Given the description of an element on the screen output the (x, y) to click on. 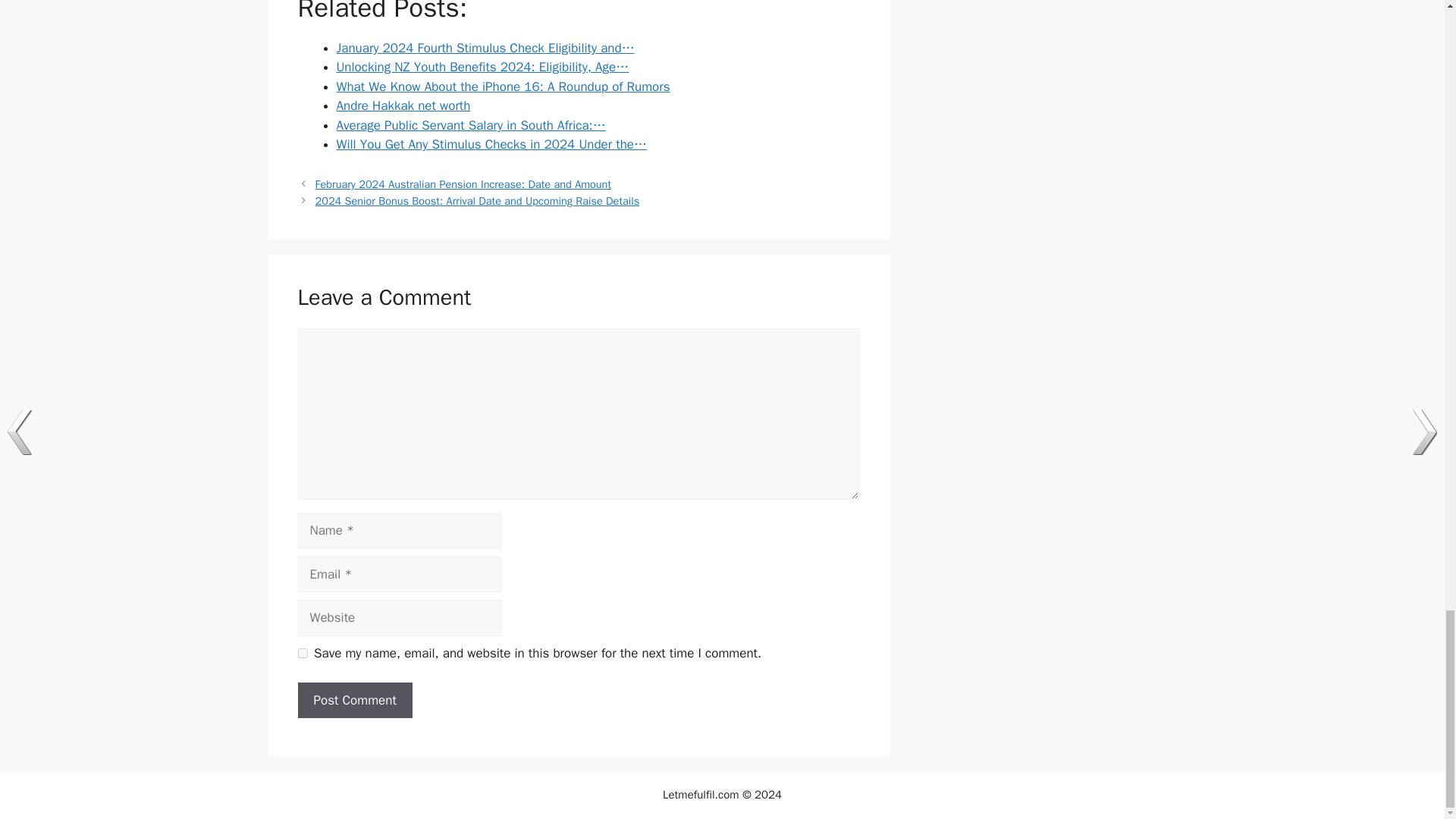
What We Know About the iPhone 16: A Roundup of Rumors (502, 86)
yes (302, 653)
Post Comment (354, 700)
Post Comment (354, 700)
Andre Hakkak net worth (403, 105)
February 2024 Australian Pension Increase: Date and Amount (463, 183)
